Given the description of an element on the screen output the (x, y) to click on. 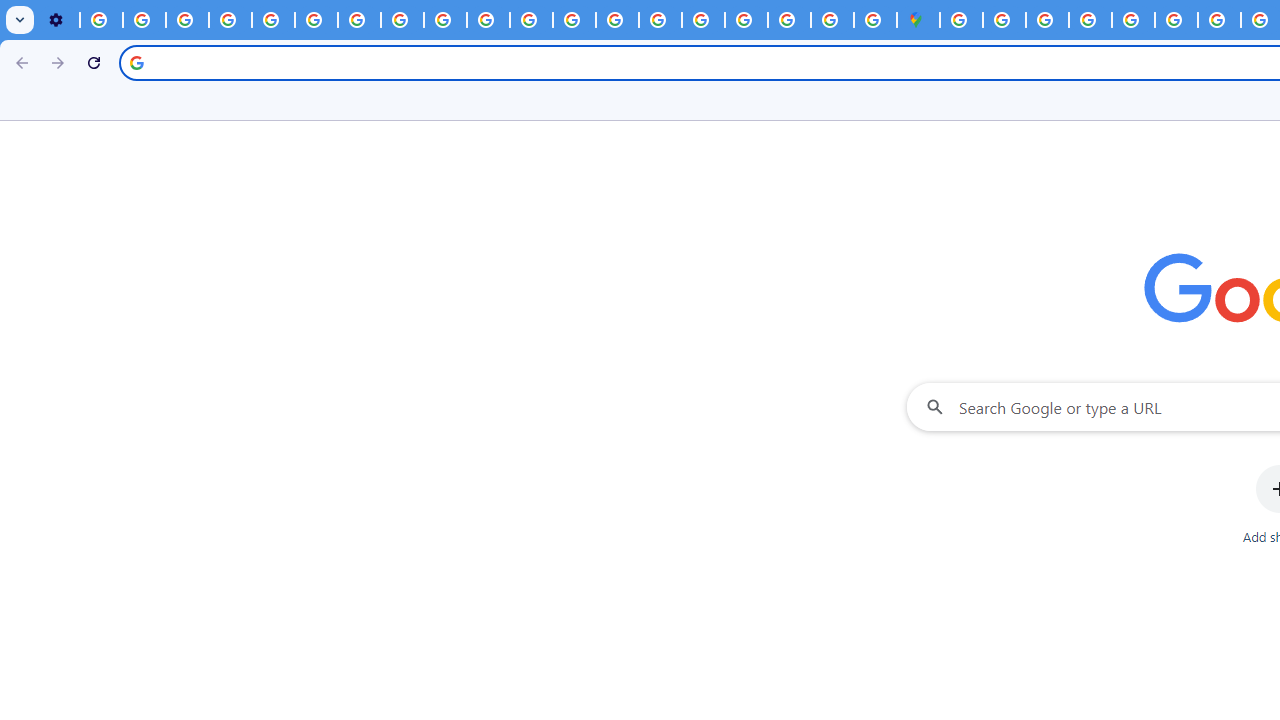
Settings - Customize profile (58, 20)
Terms and Conditions (1176, 20)
